Given the description of an element on the screen output the (x, y) to click on. 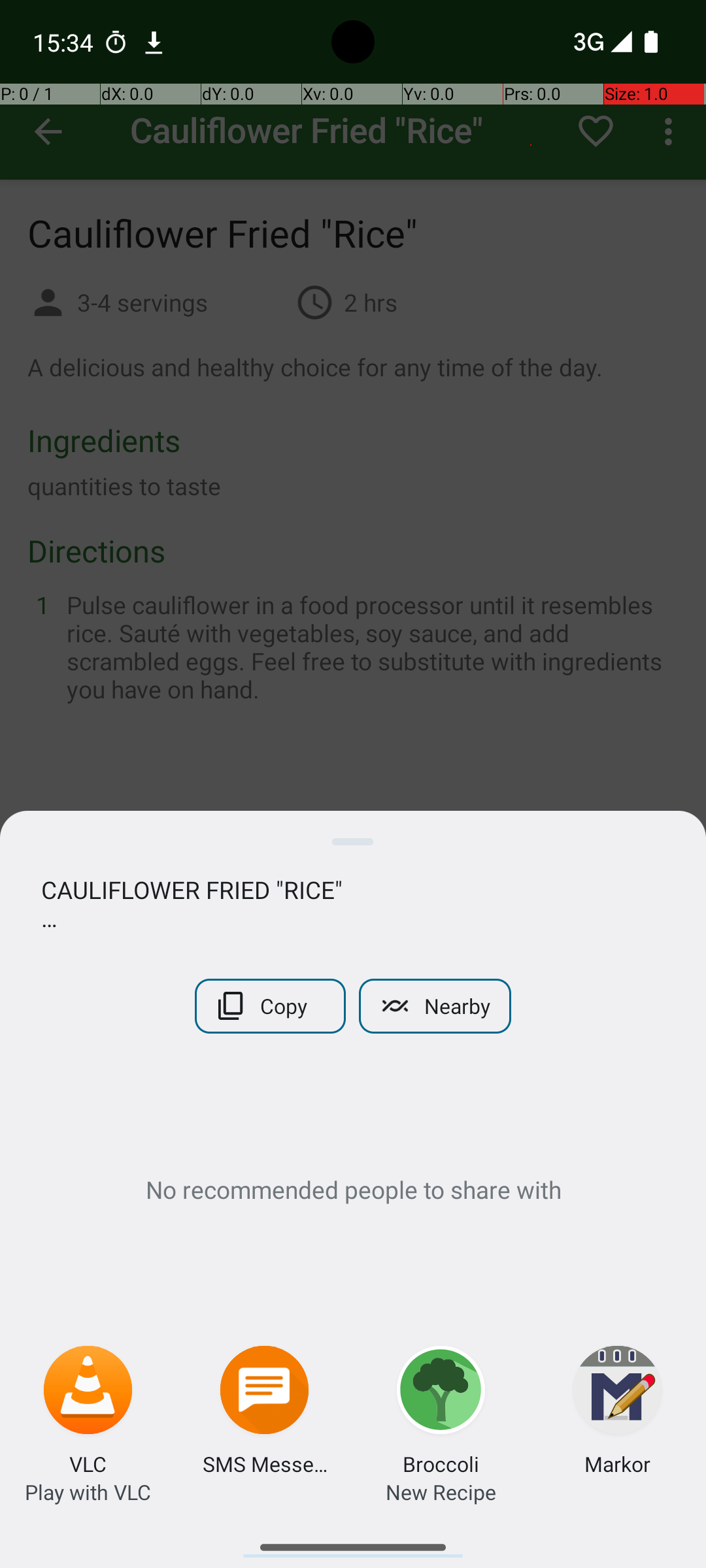
CAULIFLOWER FRIED "RICE"

Servings: 3-4 servings
Time: 2 hrs

A delicious and healthy choice for any time of the day.

Ingredients:
- quantities to taste

Directions:
1. Pulse cauliflower in a food processor until it resembles rice. Sauté with vegetables, soy sauce, and add scrambled eggs. Feel free to substitute with ingredients you have on hand.

Shared with https://play.google.com/store/apps/details?id=com.flauschcode.broccoli Element type: android.widget.TextView (352, 903)
